Given the description of an element on the screen output the (x, y) to click on. 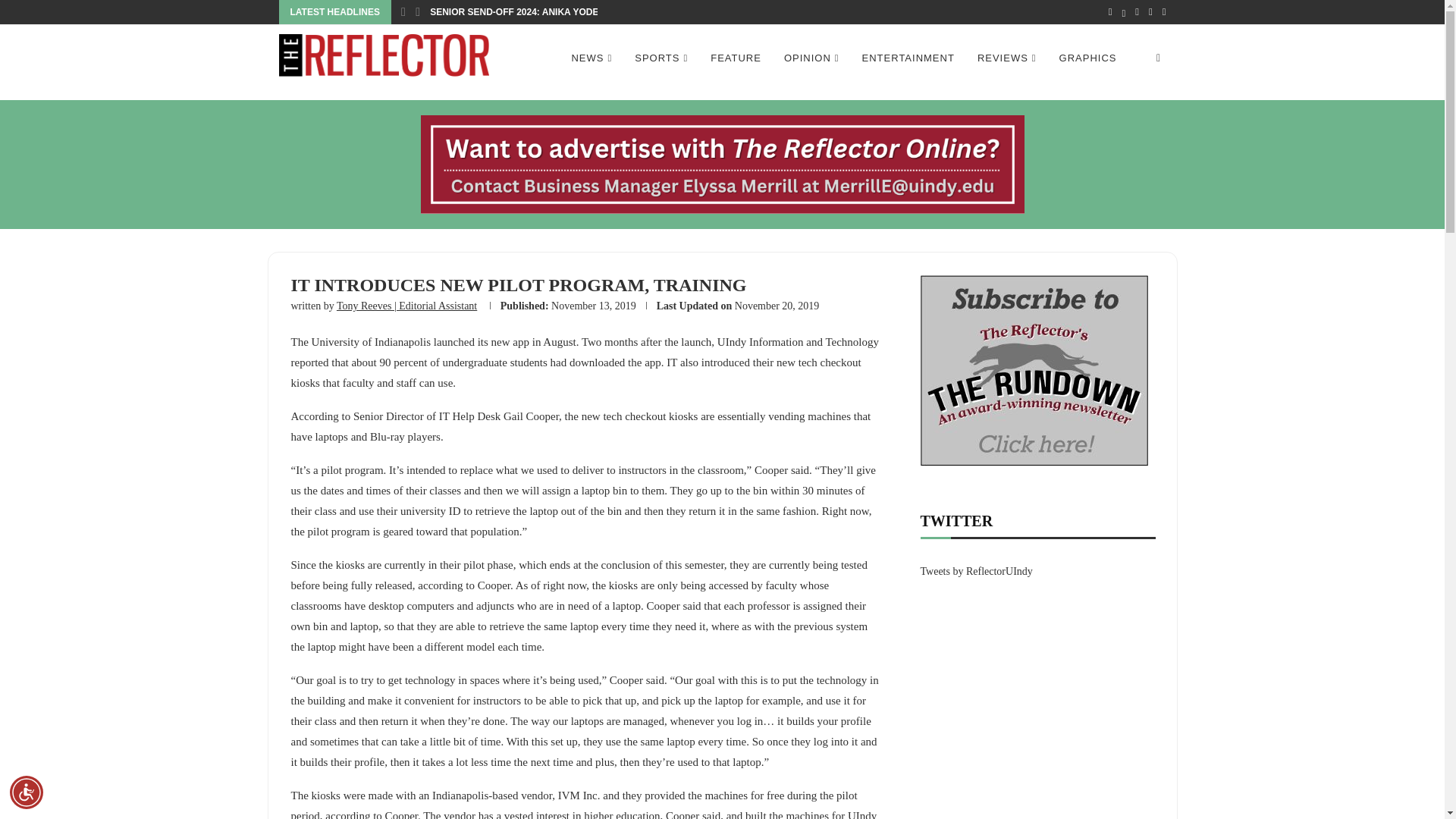
Accessibility Menu (26, 792)
SENIOR SEND-OFF 2024: ANIKA YODER (517, 12)
